Given the description of an element on the screen output the (x, y) to click on. 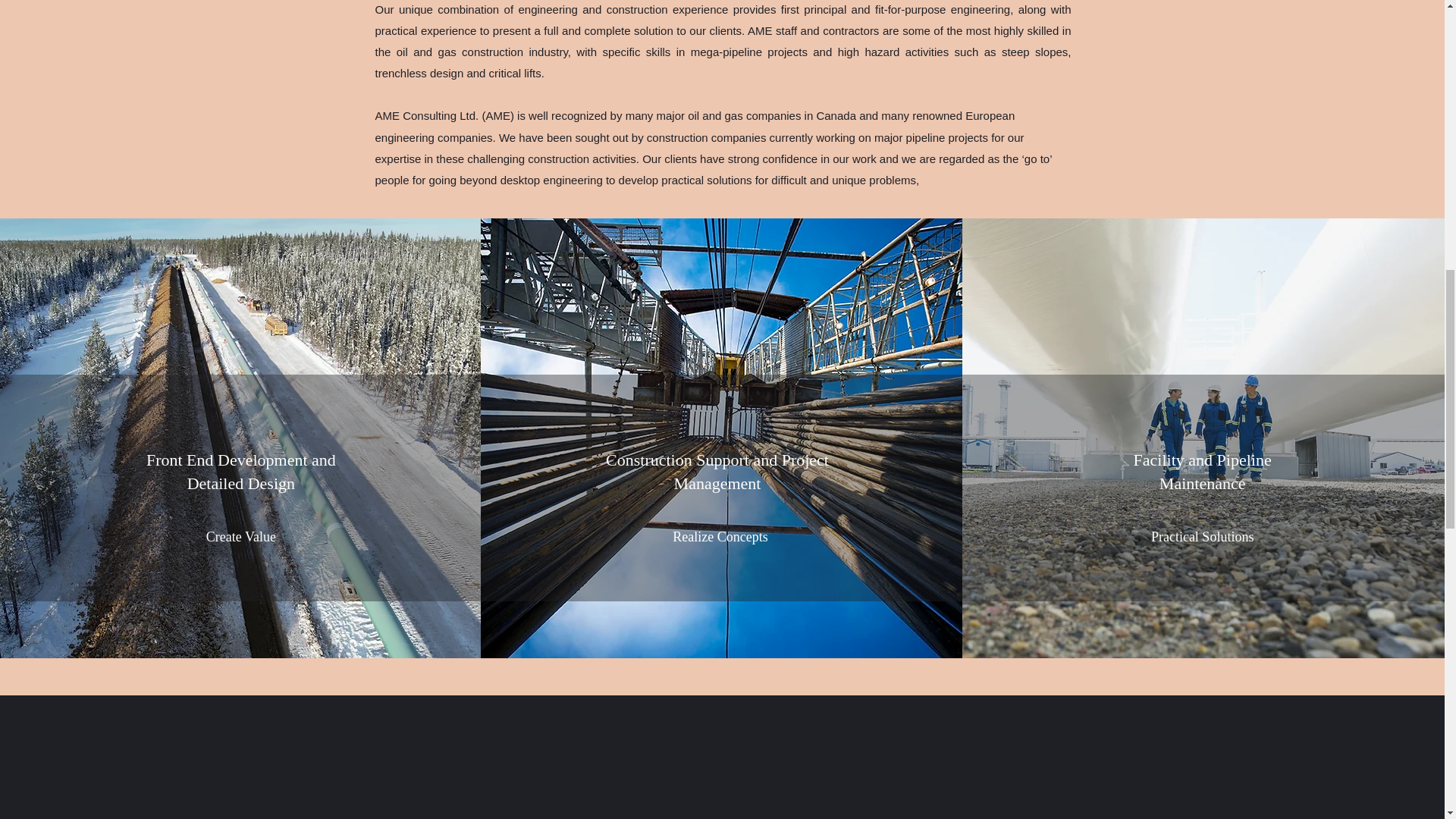
Construction Support and Project Management (716, 471)
Front End Development and Detailed Design (241, 471)
Facility and Pipeline Maintenance (1202, 471)
